Given the description of an element on the screen output the (x, y) to click on. 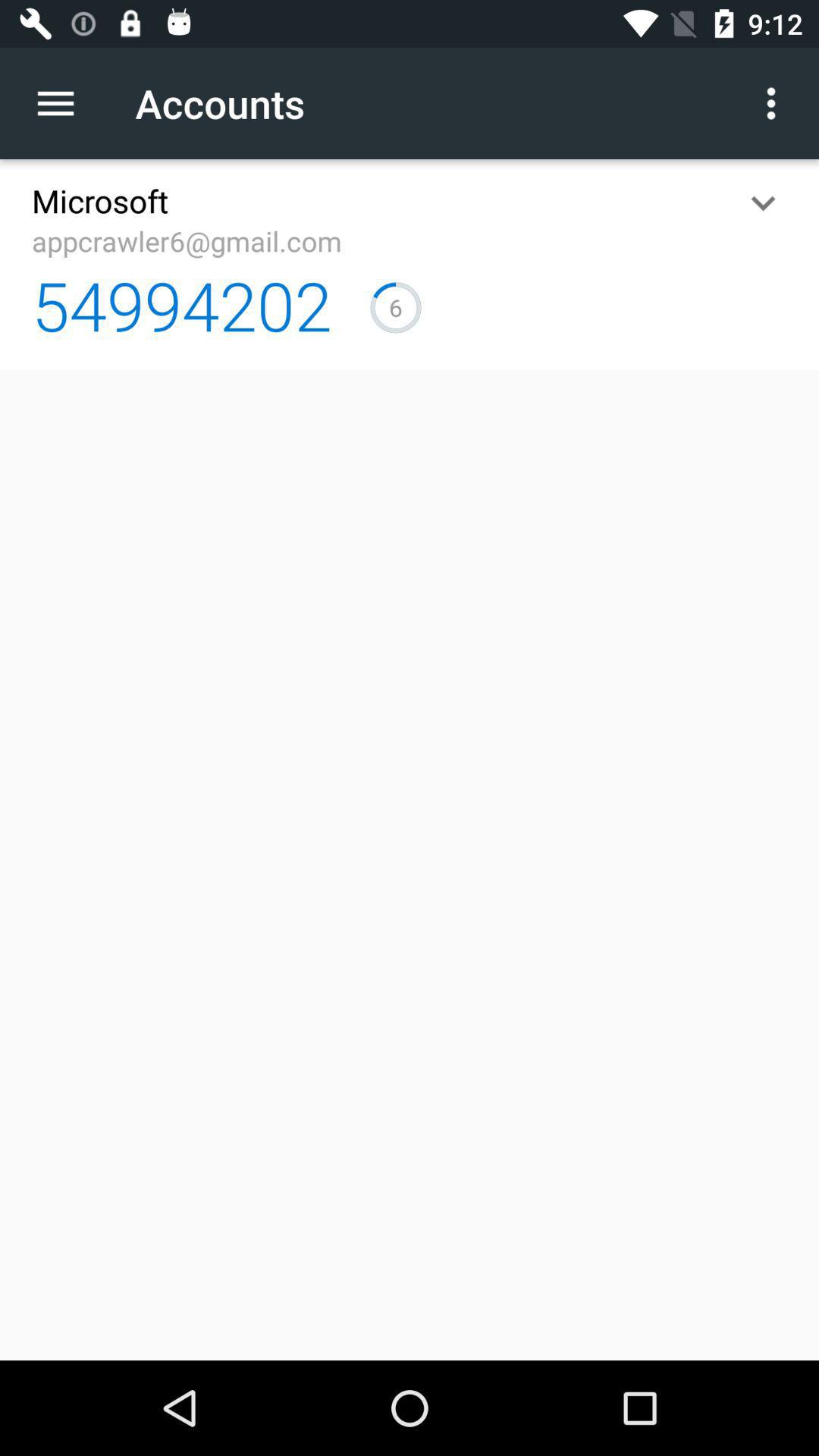
press the appcrawler6@gmail.com item (186, 240)
